Given the description of an element on the screen output the (x, y) to click on. 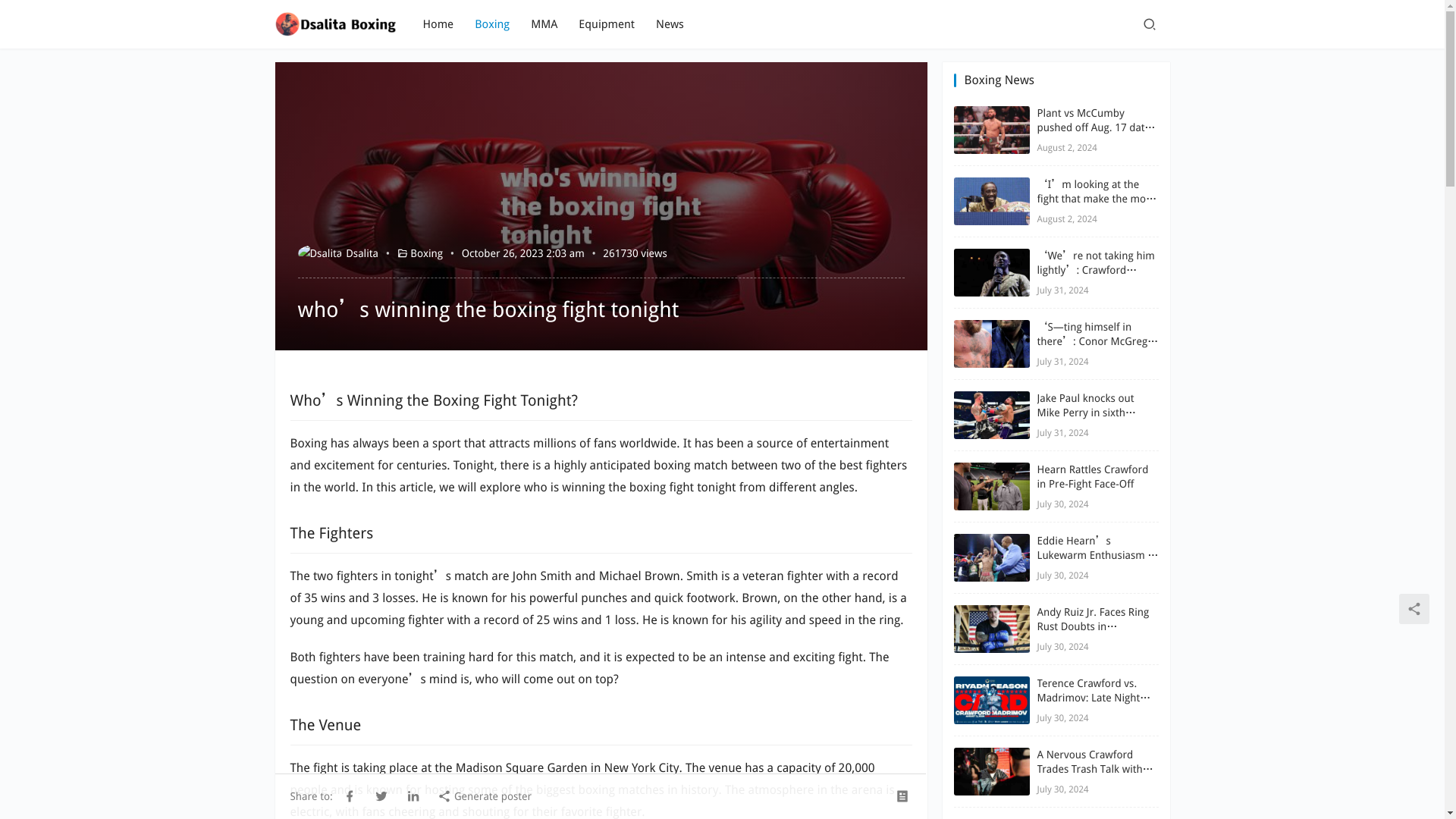
Dsalita (337, 253)
Equipment (606, 24)
Boxing (426, 253)
Generate poster (483, 795)
